Given the description of an element on the screen output the (x, y) to click on. 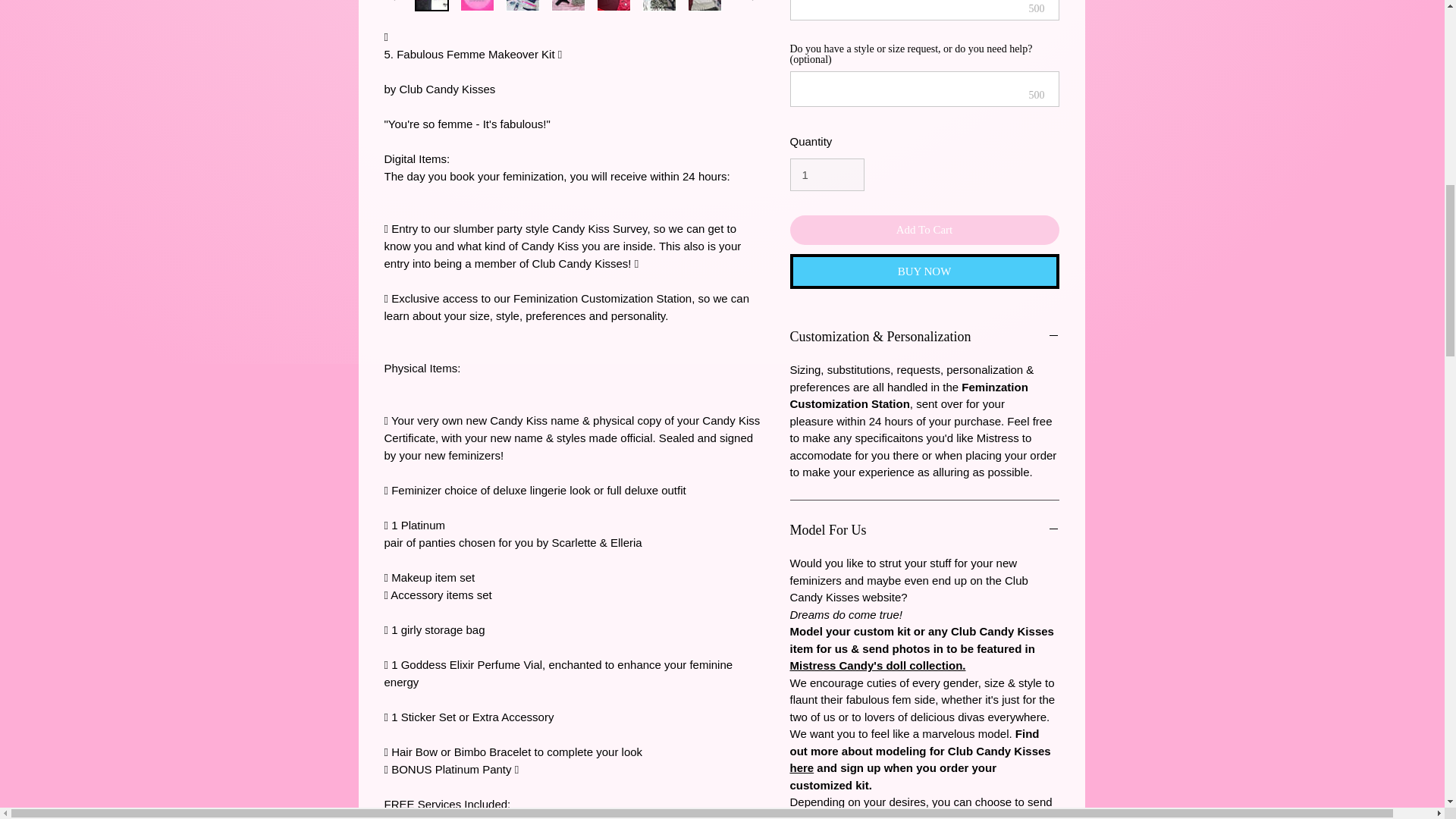
1 (827, 174)
